Given the description of an element on the screen output the (x, y) to click on. 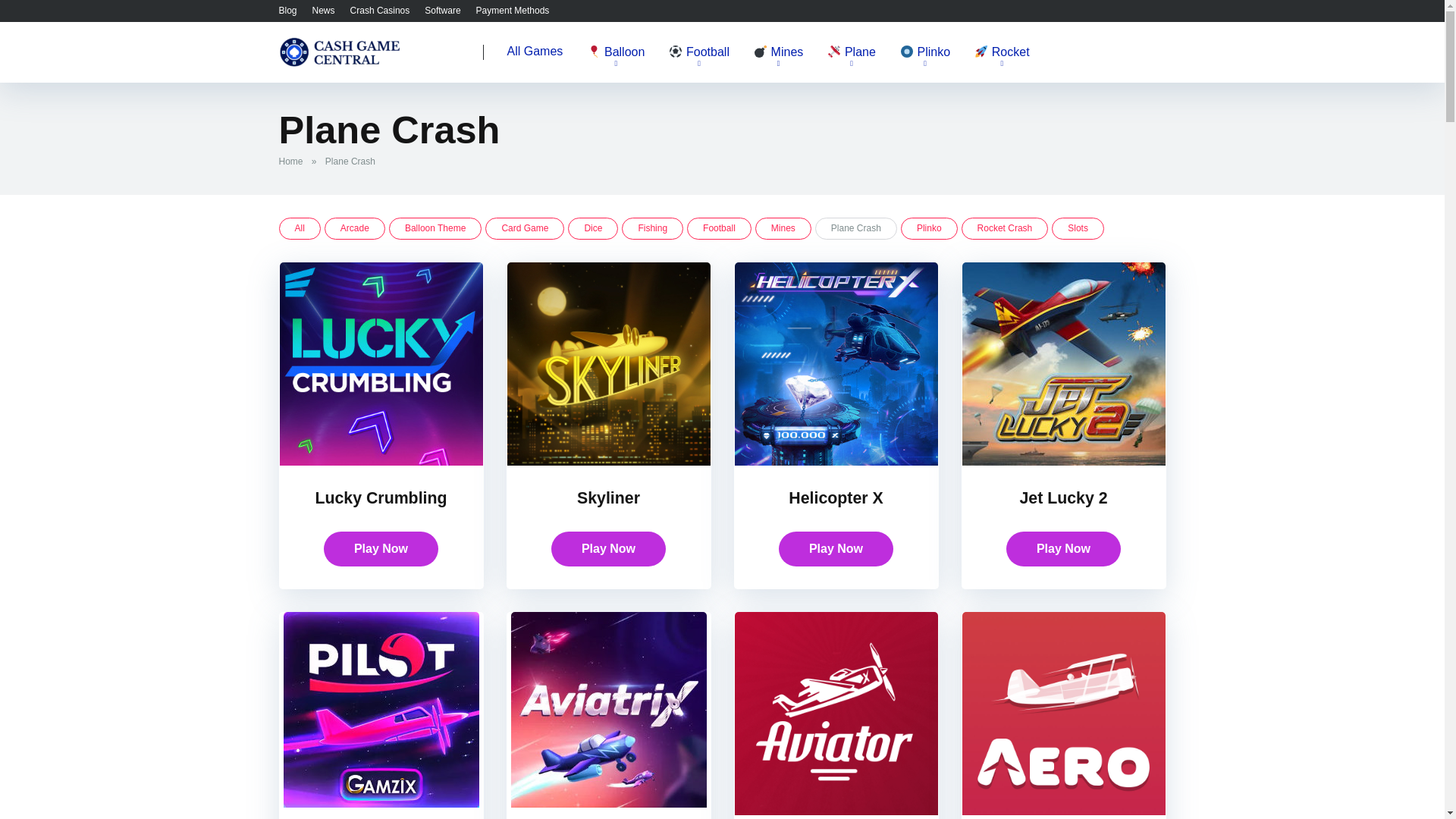
Play Now (380, 548)
Rocket (1001, 52)
Rocket Crash (1004, 228)
Plinko (925, 52)
Football (698, 52)
Crash Casinos (380, 9)
Payment Methods (513, 9)
Mines (778, 52)
Blog (288, 9)
Skyliner (608, 497)
Software (442, 9)
Slots (1077, 228)
Balloon (615, 52)
Card Game (524, 228)
Cash Game Central (340, 46)
